Given the description of an element on the screen output the (x, y) to click on. 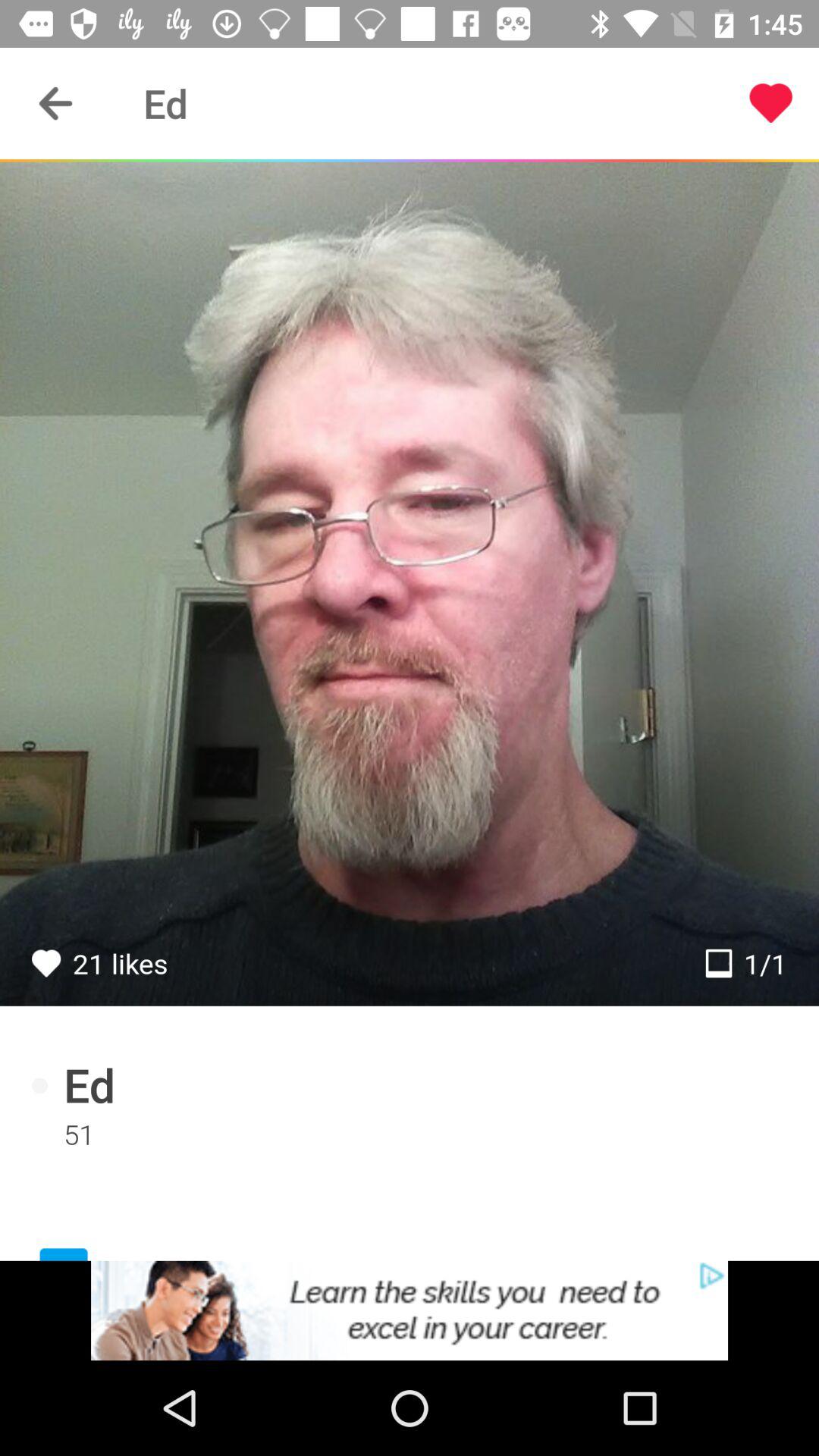
advertisement (409, 1310)
